Given the description of an element on the screen output the (x, y) to click on. 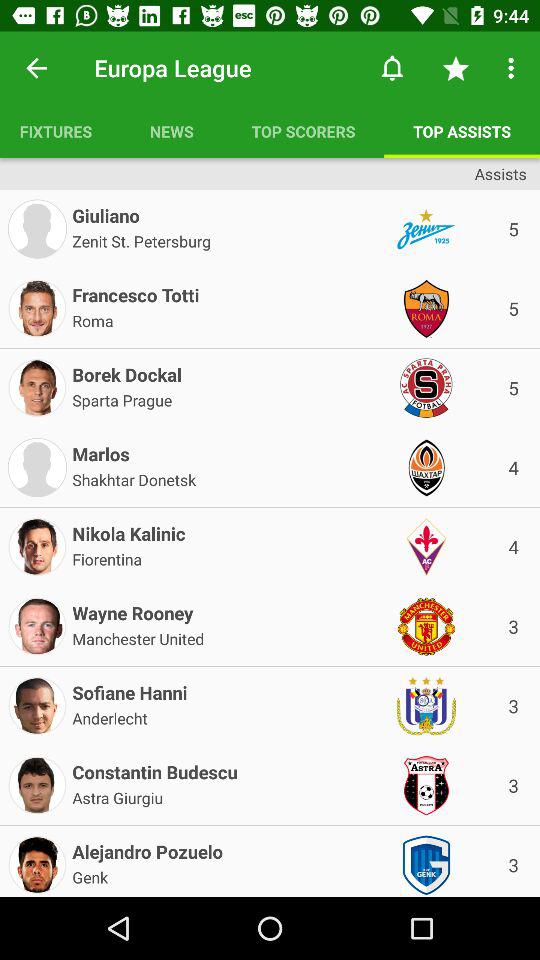
scroll until marlos item (100, 450)
